Given the description of an element on the screen output the (x, y) to click on. 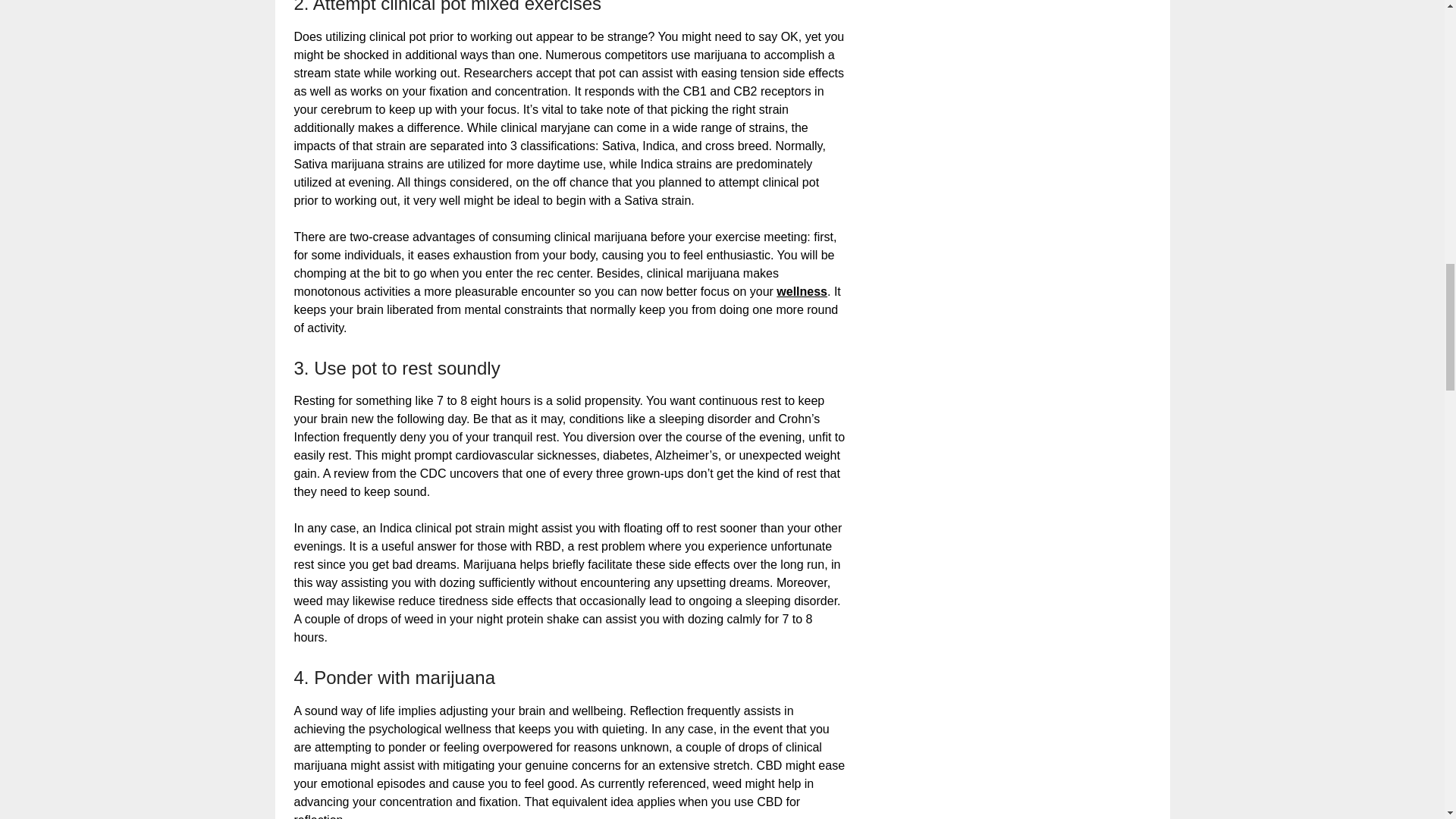
wellness (801, 291)
